Given the description of an element on the screen output the (x, y) to click on. 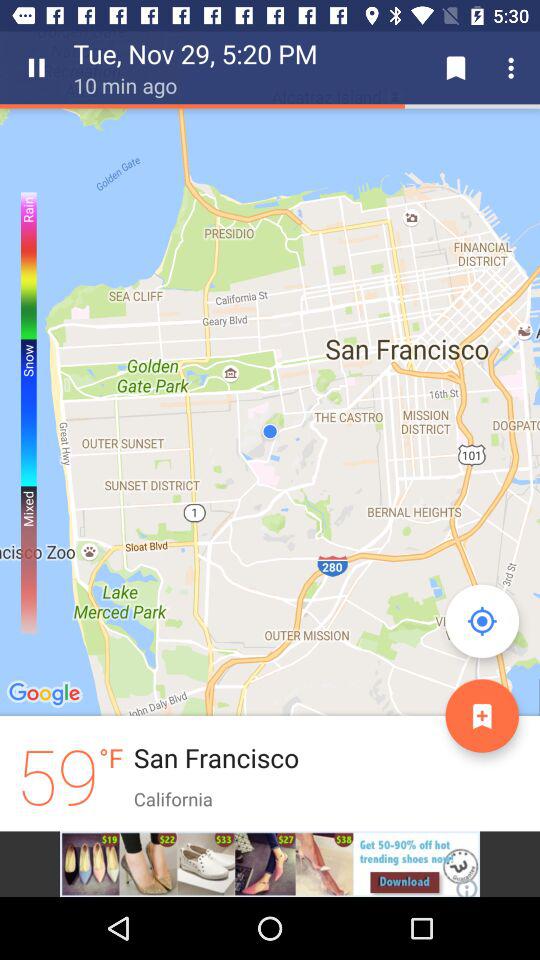
advertisement link (270, 864)
